Given the description of an element on the screen output the (x, y) to click on. 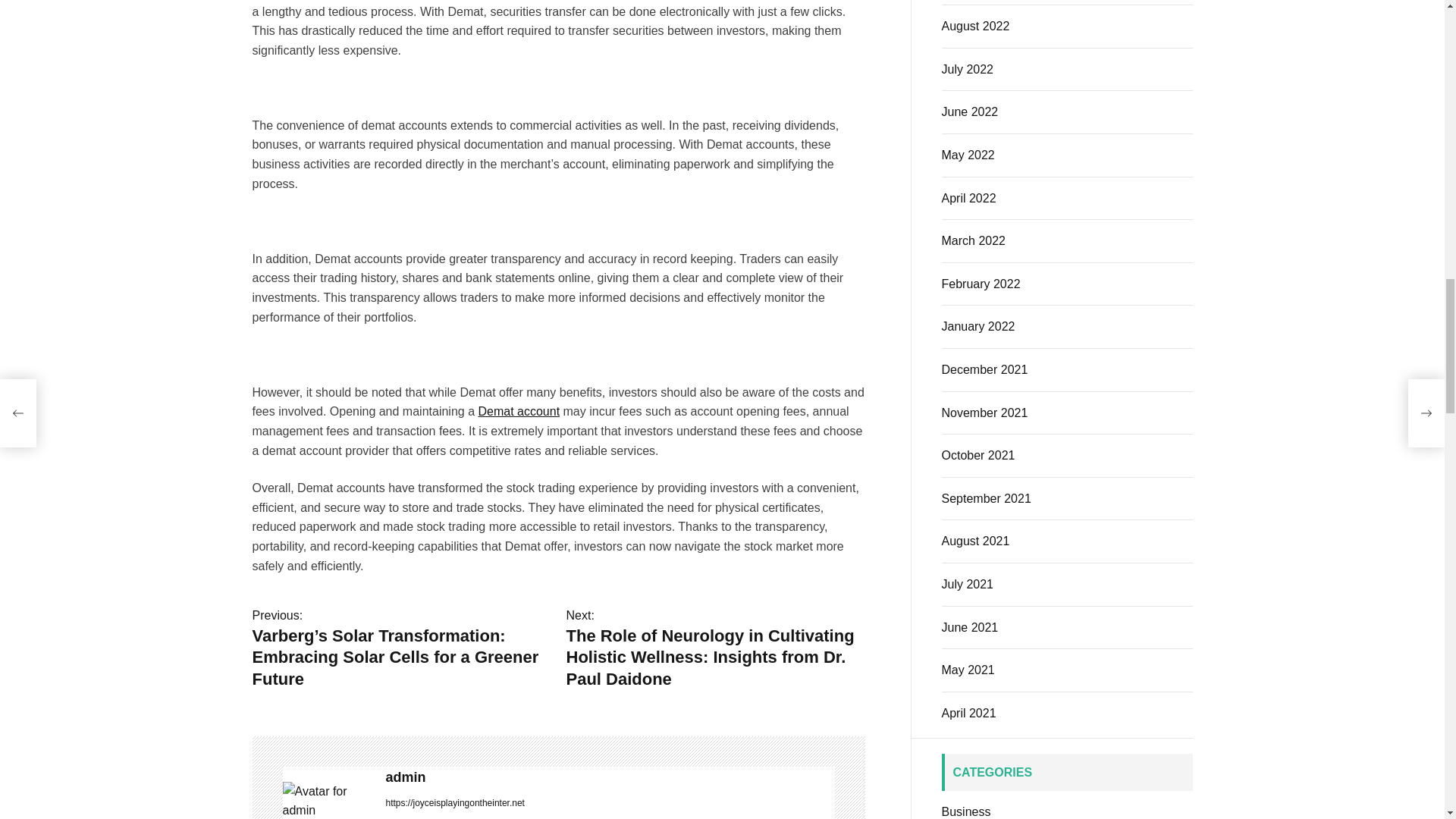
Demat account (518, 410)
admin (609, 777)
admin (325, 800)
admin (609, 777)
